Given the description of an element on the screen output the (x, y) to click on. 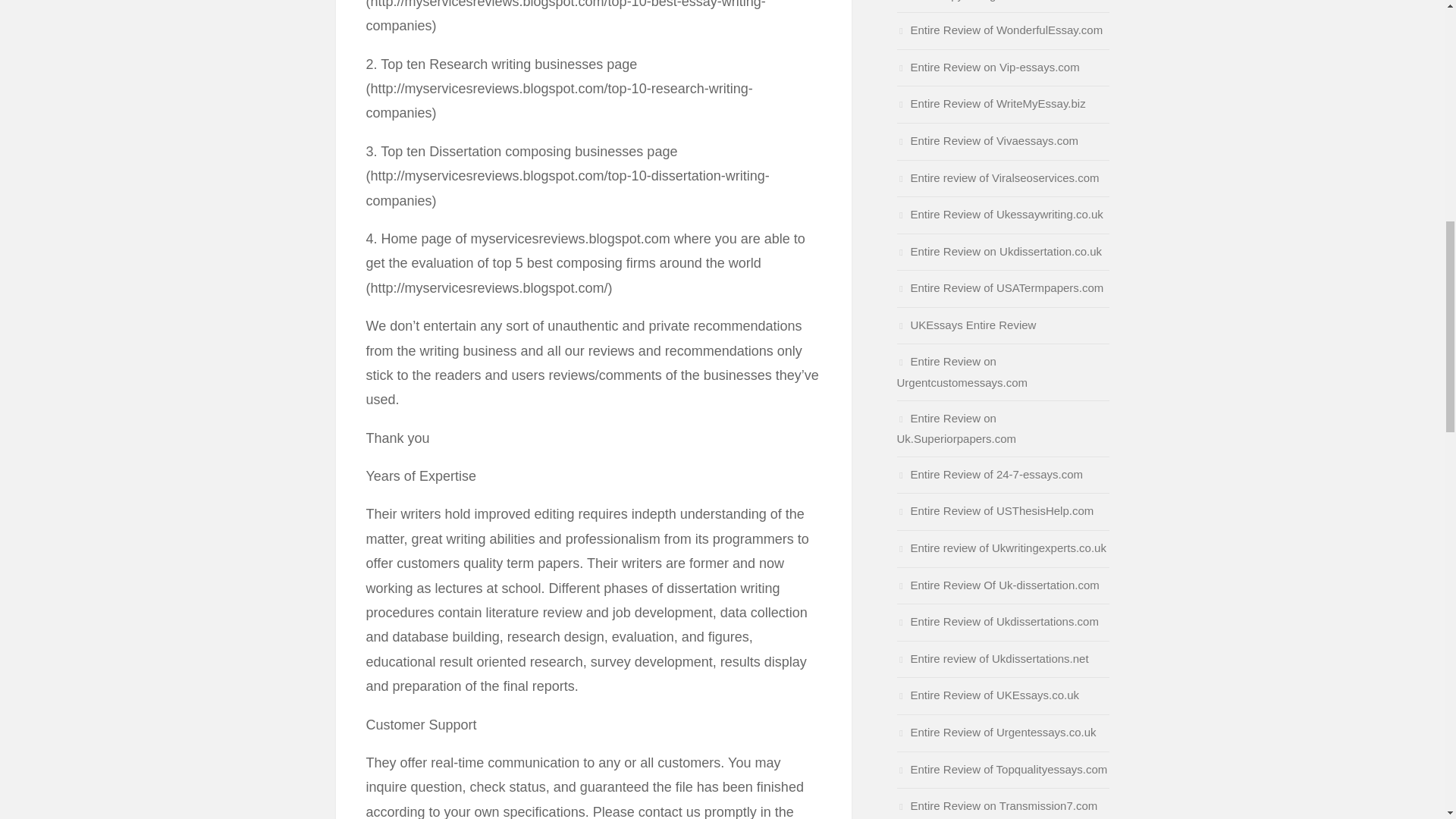
Entire Review of Ukdissertations.com (996, 621)
Entire Review on Uk.Superiorpapers.com (956, 428)
Entire Review of Urgentessays.co.uk (996, 731)
Entire Review of Ukessaywriting.co.uk (999, 214)
Entire Review of UKEssays.co.uk (987, 694)
Entire Review Of Williamscopywriting.co.uk (961, 0)
Entire Review of WriteMyEssay.biz (990, 103)
Entire Review on Ukdissertation.co.uk (999, 250)
Entire Review of USATermpapers.com (999, 287)
Entire Review on Urgentcustomessays.com (961, 371)
